Given the description of an element on the screen output the (x, y) to click on. 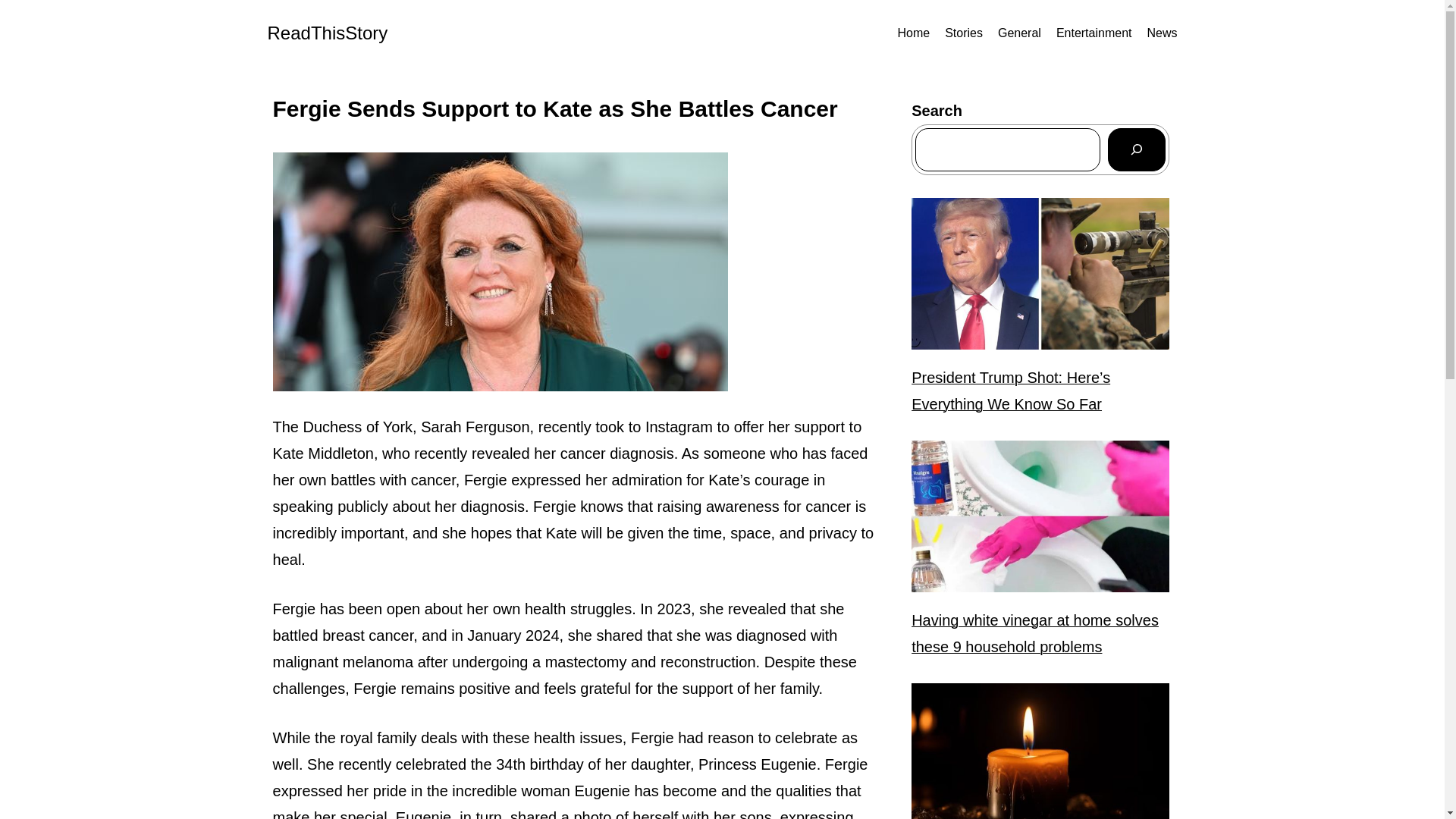
General (1019, 33)
Home (913, 33)
Stories (963, 33)
News (1161, 33)
ReadThisStory (326, 32)
Entertainment (1094, 33)
